Given the description of an element on the screen output the (x, y) to click on. 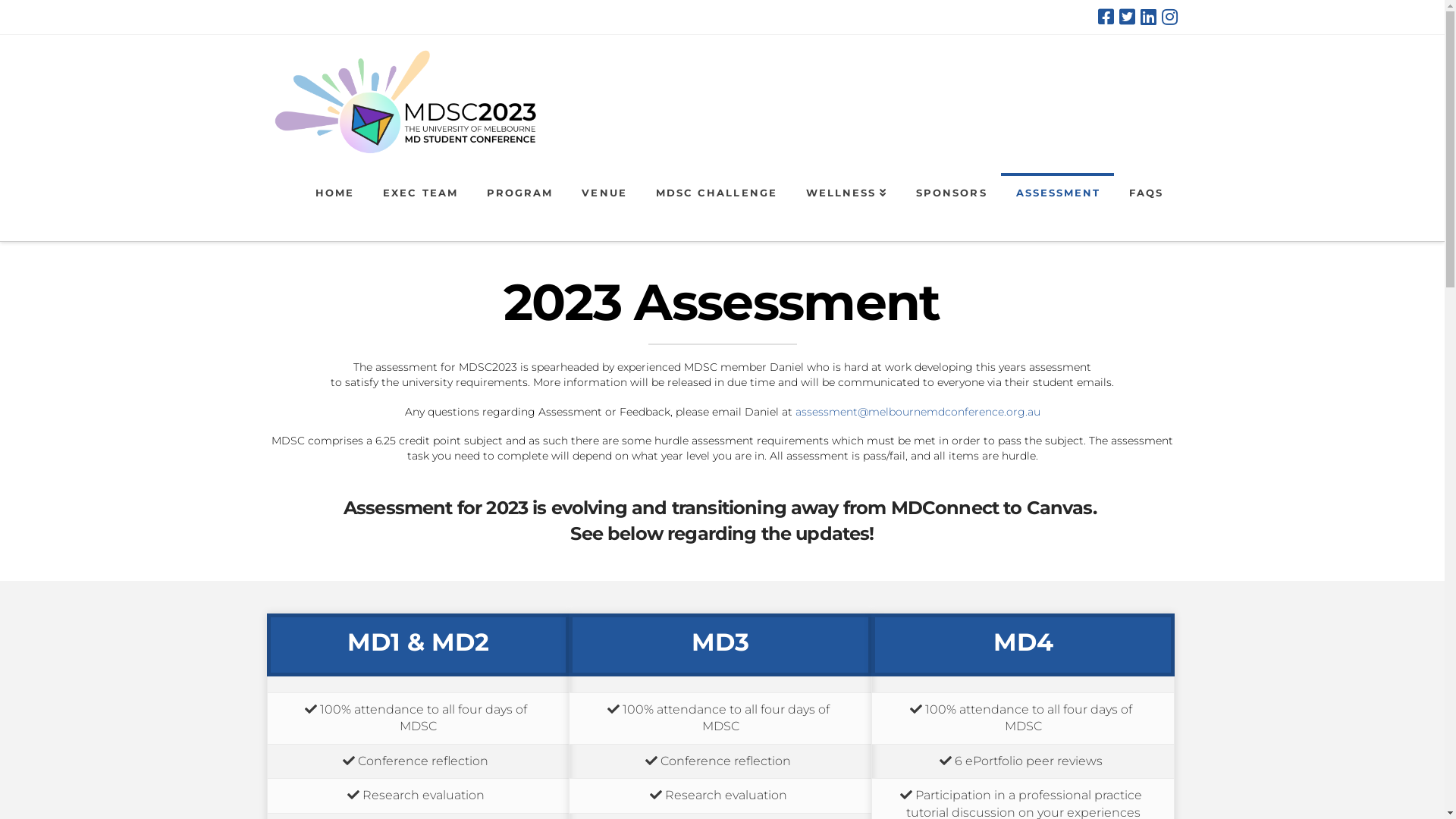
Facebook Element type: hover (1105, 16)
EXEC TEAM Element type: text (419, 206)
HOME Element type: text (333, 206)
FAQS Element type: text (1144, 206)
PROGRAM Element type: text (518, 206)
Twitter Element type: hover (1127, 16)
WELLNESS Element type: text (845, 206)
SPONSORS Element type: text (950, 206)
LinkedIn Element type: hover (1148, 16)
MDSC CHALLENGE Element type: text (715, 206)
Instagram Element type: hover (1169, 16)
assessment@melbournemdconference.org.au Element type: text (916, 411)
VENUE Element type: text (603, 206)
ASSESSMENT Element type: text (1057, 206)
